Given the description of an element on the screen output the (x, y) to click on. 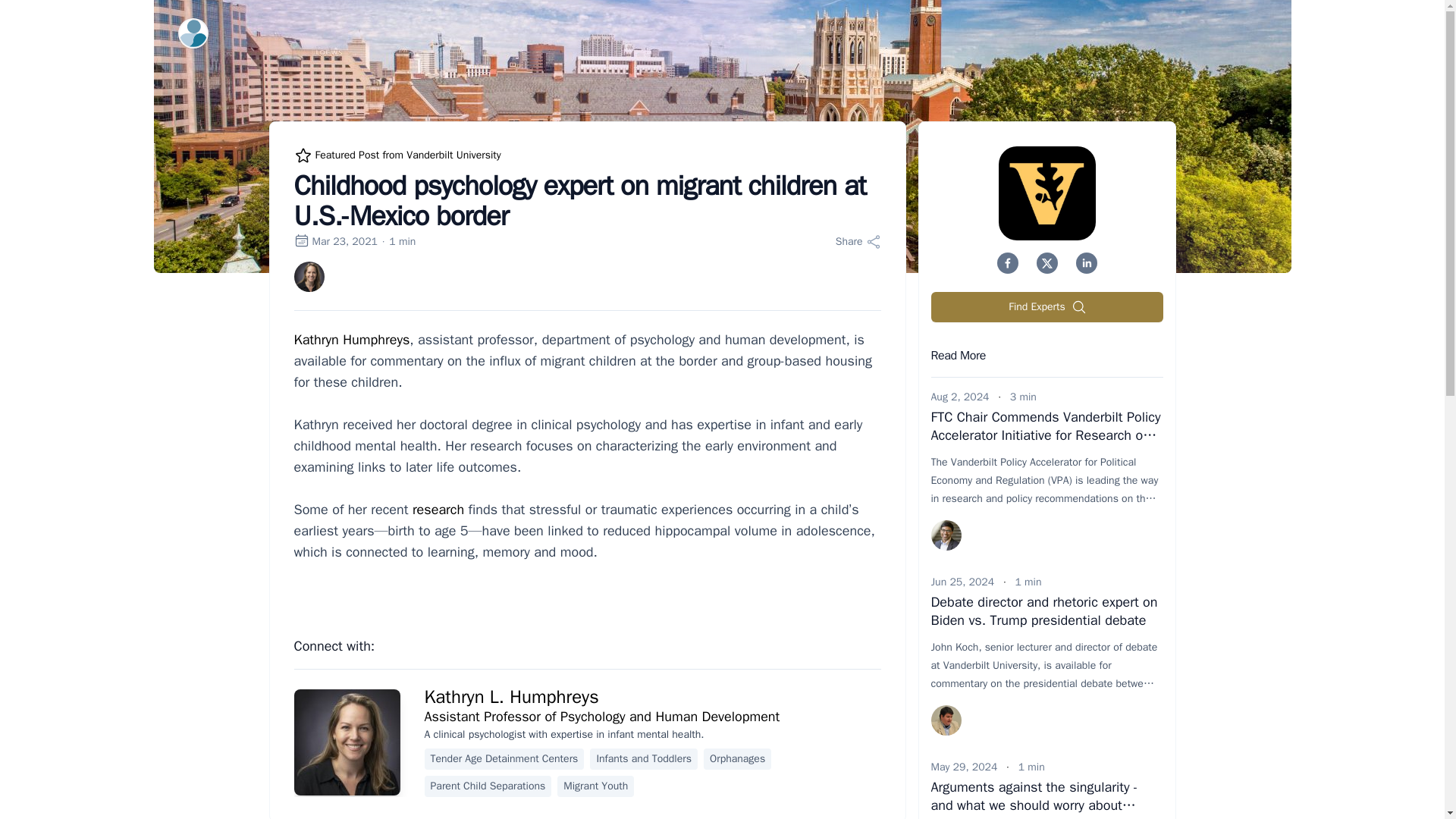
Kathryn Humphreys (352, 339)
Share (857, 241)
ExpertFile Inc. (192, 33)
Find Experts (1047, 306)
research (438, 509)
Kathryn L. Humphreys (511, 696)
